Given the description of an element on the screen output the (x, y) to click on. 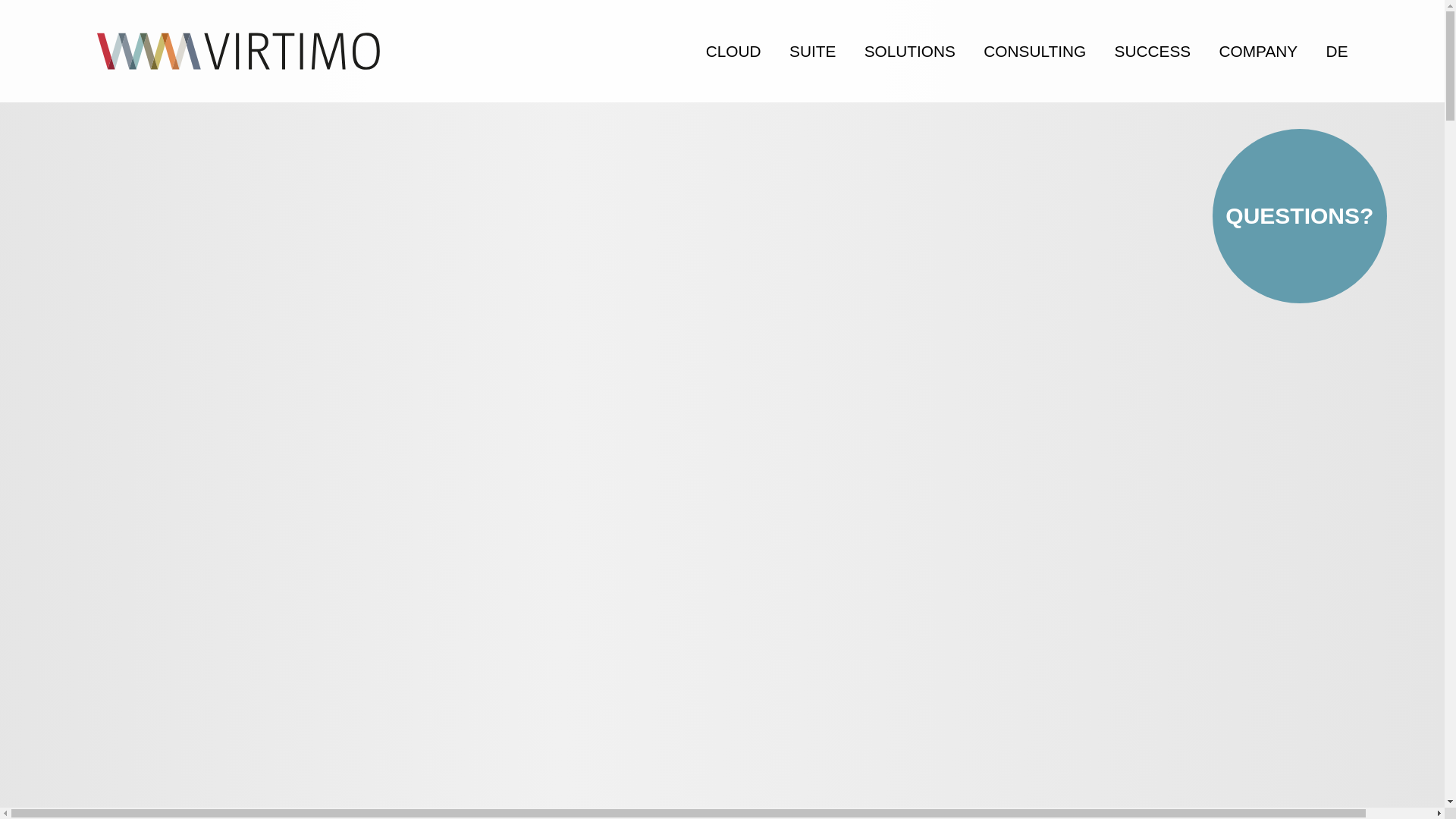
SUCCESS (1152, 50)
CONSULTING (1034, 50)
SOLUTIONS (909, 50)
COMPANY (1258, 50)
QUESTIONS? (1299, 215)
CLOUD (732, 50)
SUITE (812, 50)
DE (1329, 50)
